Given the description of an element on the screen output the (x, y) to click on. 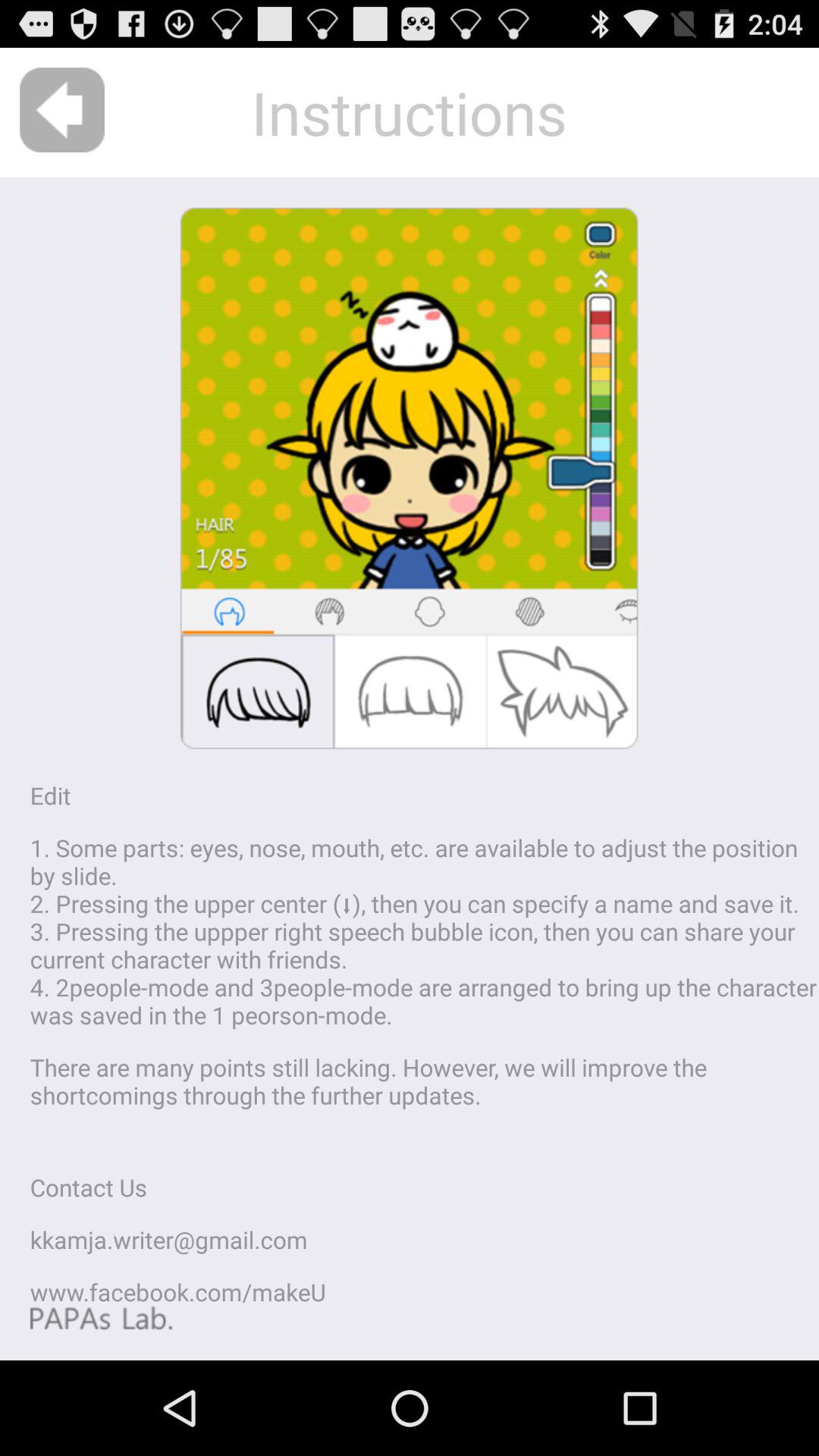
turn on the app to the left of instructions (61, 109)
